Given the description of an element on the screen output the (x, y) to click on. 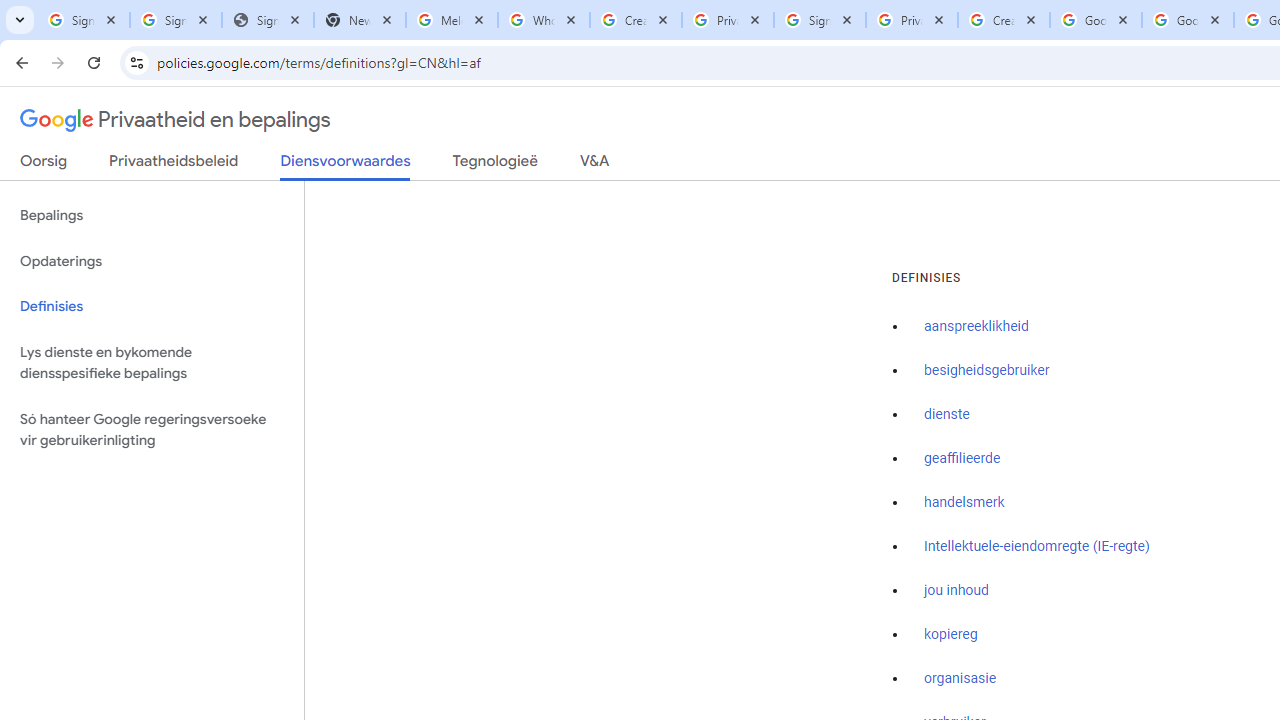
Create your Google Account (636, 20)
aanspreeklikheid (976, 327)
Lys dienste en bykomende diensspesifieke bepalings (152, 362)
Create your Google Account (1003, 20)
kopiereg (950, 634)
V&A (594, 165)
